Given the description of an element on the screen output the (x, y) to click on. 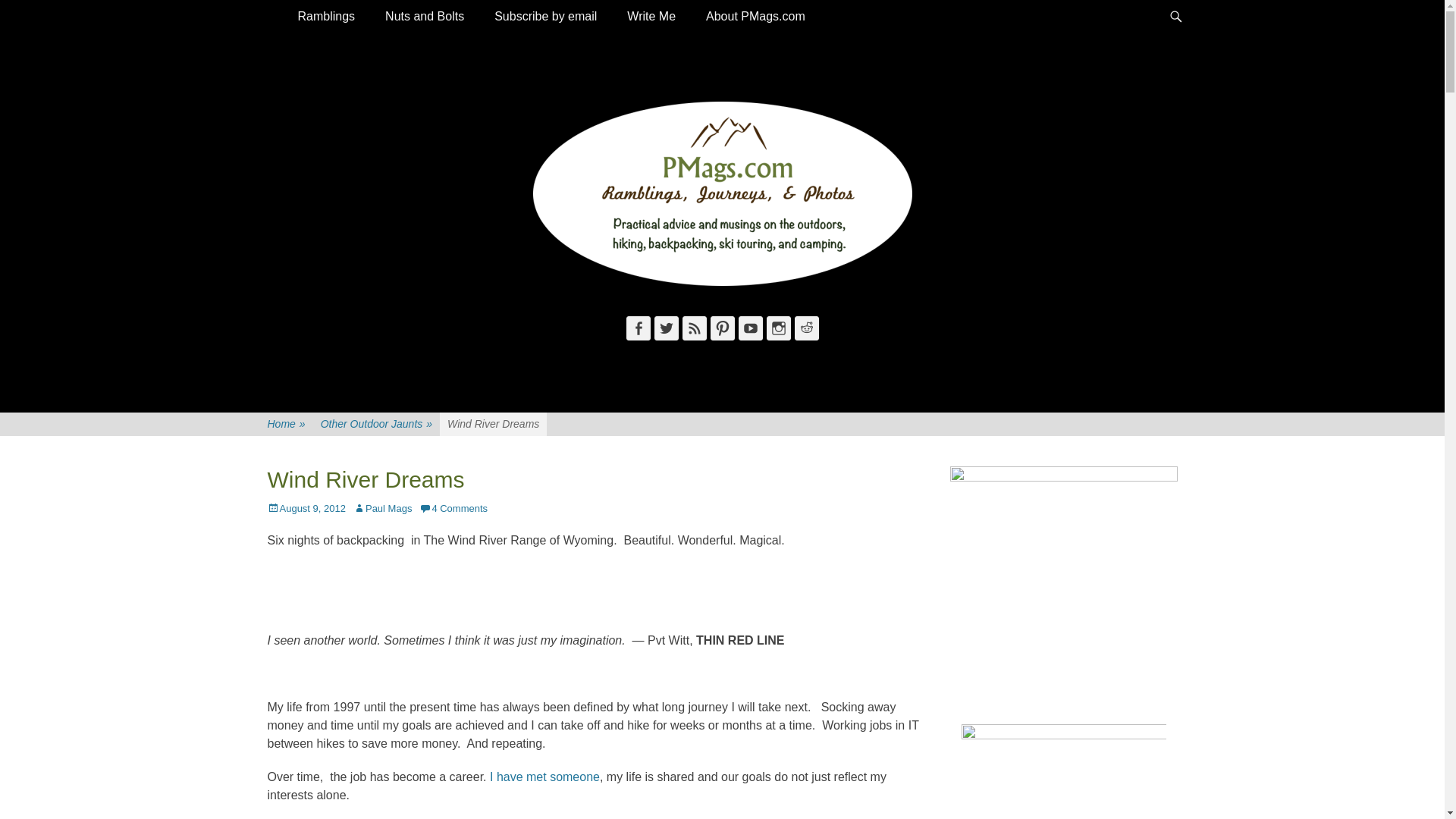
Write Me (650, 16)
Facebook (638, 328)
Ramblings (325, 16)
Twitter (665, 328)
